Given the description of an element on the screen output the (x, y) to click on. 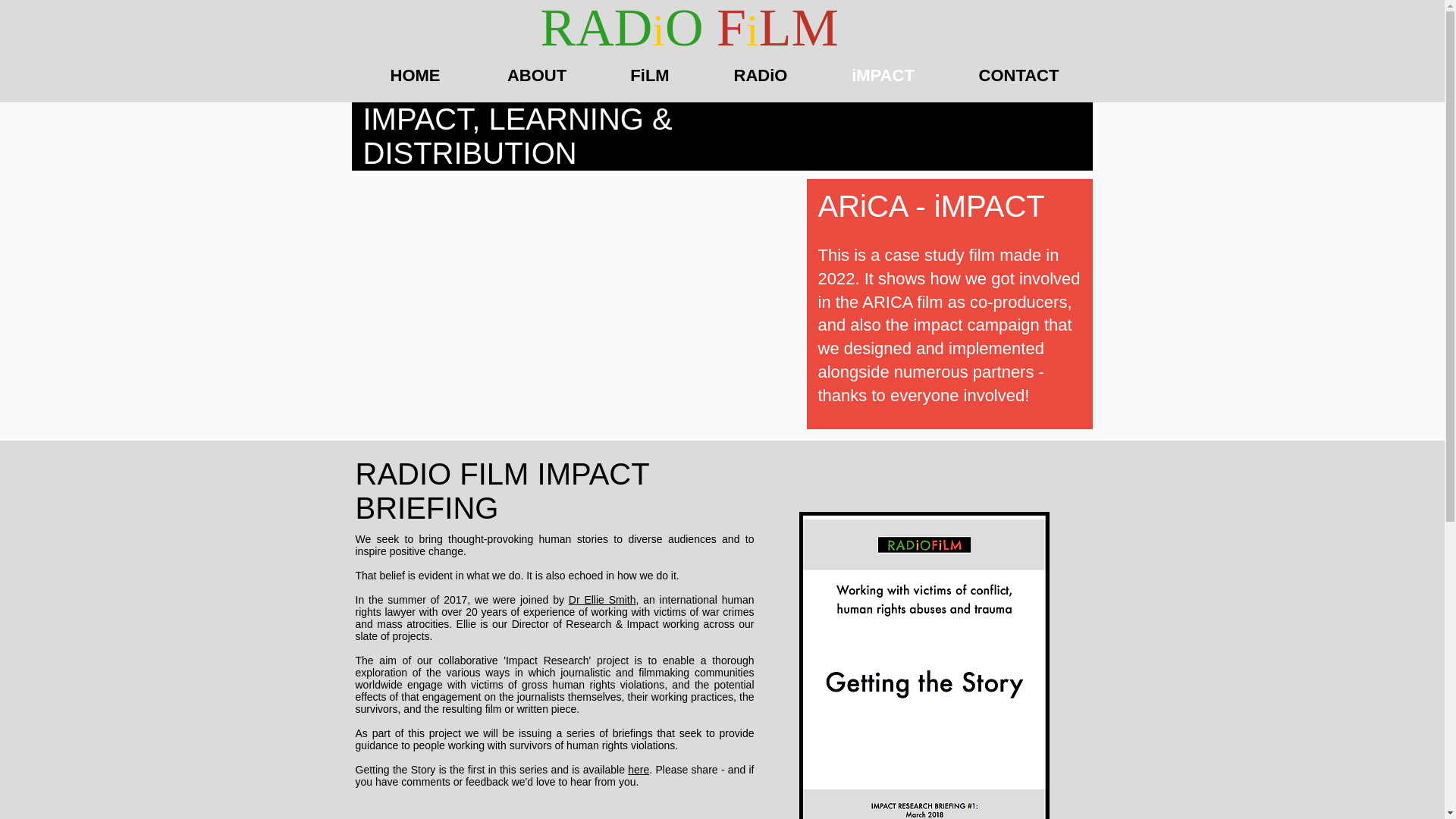
Dr Ellie Smith (602, 599)
iMPACT (883, 72)
FiLM (649, 72)
HOME (414, 72)
here (638, 769)
CONTACT (1019, 72)
ABOUT (536, 72)
RADiO (759, 72)
